Given the description of an element on the screen output the (x, y) to click on. 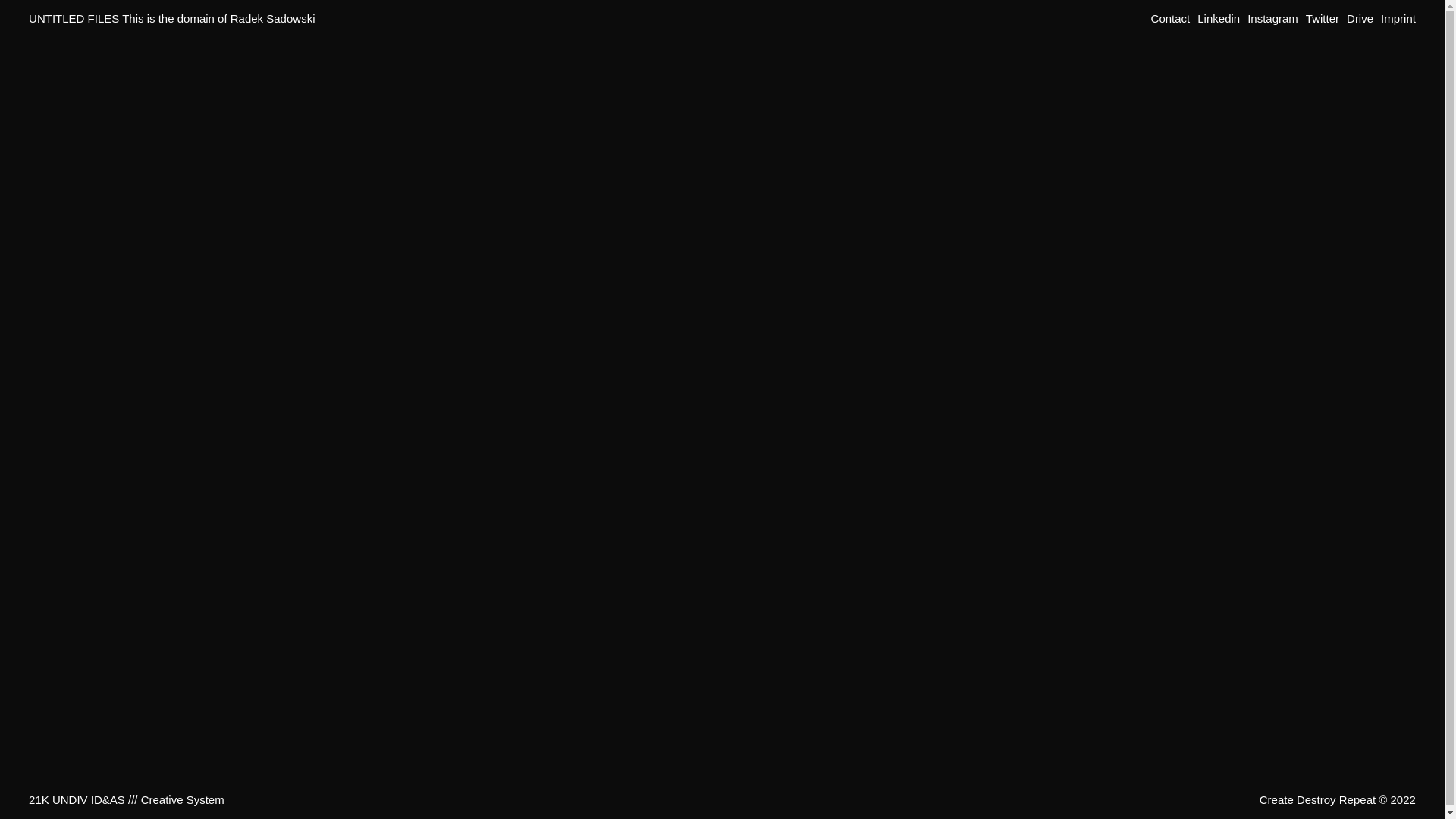
Drive Element type: text (1359, 18)
Instagram Element type: text (1272, 18)
21K UNDIV ID&AS /// Creative System Element type: text (126, 799)
Linkedin Element type: text (1218, 18)
Contact Element type: text (1170, 18)
Imprint Element type: text (1397, 18)
UNTITLED FILES This is the domain of Radek Sadowski Element type: text (171, 18)
Twitter Element type: text (1322, 18)
